Given the description of an element on the screen output the (x, y) to click on. 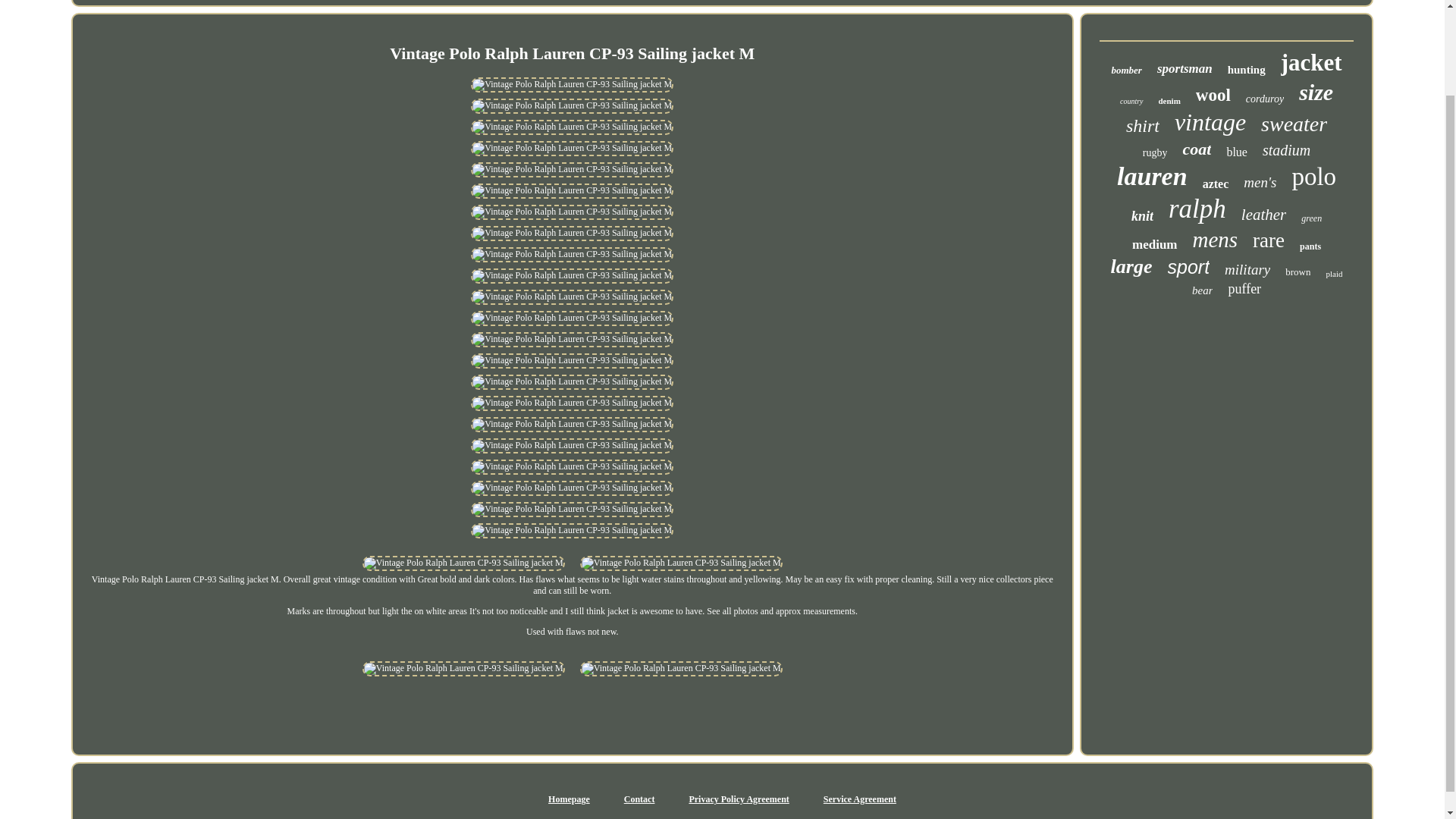
Vintage Polo Ralph Lauren CP-93 Sailing jacket M (571, 105)
Vintage Polo Ralph Lauren CP-93 Sailing jacket M (571, 445)
Vintage Polo Ralph Lauren CP-93 Sailing jacket M (571, 296)
Vintage Polo Ralph Lauren CP-93 Sailing jacket M (571, 233)
Vintage Polo Ralph Lauren CP-93 Sailing jacket M (571, 381)
Vintage Polo Ralph Lauren CP-93 Sailing jacket M (571, 191)
Vintage Polo Ralph Lauren CP-93 Sailing jacket M (571, 424)
Vintage Polo Ralph Lauren CP-93 Sailing jacket M (571, 339)
Vintage Polo Ralph Lauren CP-93 Sailing jacket M (571, 212)
Vintage Polo Ralph Lauren CP-93 Sailing jacket M (571, 275)
Vintage Polo Ralph Lauren CP-93 Sailing jacket M (571, 403)
Vintage Polo Ralph Lauren CP-93 Sailing jacket M (571, 127)
Vintage Polo Ralph Lauren CP-93 Sailing jacket M (571, 254)
Vintage Polo Ralph Lauren CP-93 Sailing jacket M (571, 318)
Vintage Polo Ralph Lauren CP-93 Sailing jacket M (571, 148)
